Given the description of an element on the screen output the (x, y) to click on. 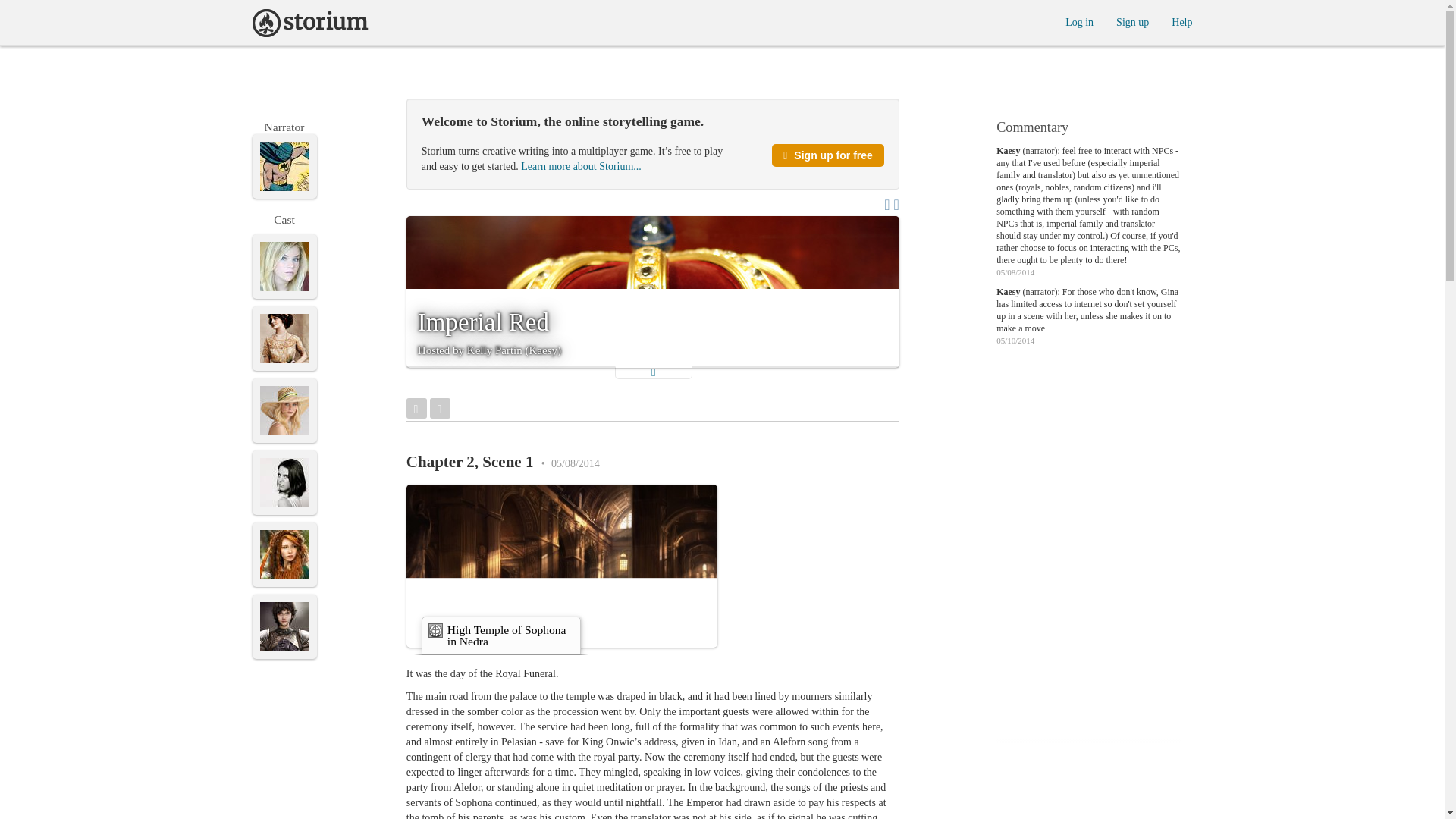
Sign up (1132, 21)
Help (1182, 21)
Aleena Thompson (283, 266)
Sign up for free (827, 155)
Loch Monarch (283, 554)
Log in (1079, 21)
Emelie Hyll (283, 409)
Sir Kristofer d'Esambard (283, 626)
Ayala Quen (283, 338)
Gina Hardee (283, 481)
Previous scene (439, 408)
Kaesy (283, 165)
First scene (416, 408)
Learn more about Storium... (581, 165)
